Given the description of an element on the screen output the (x, y) to click on. 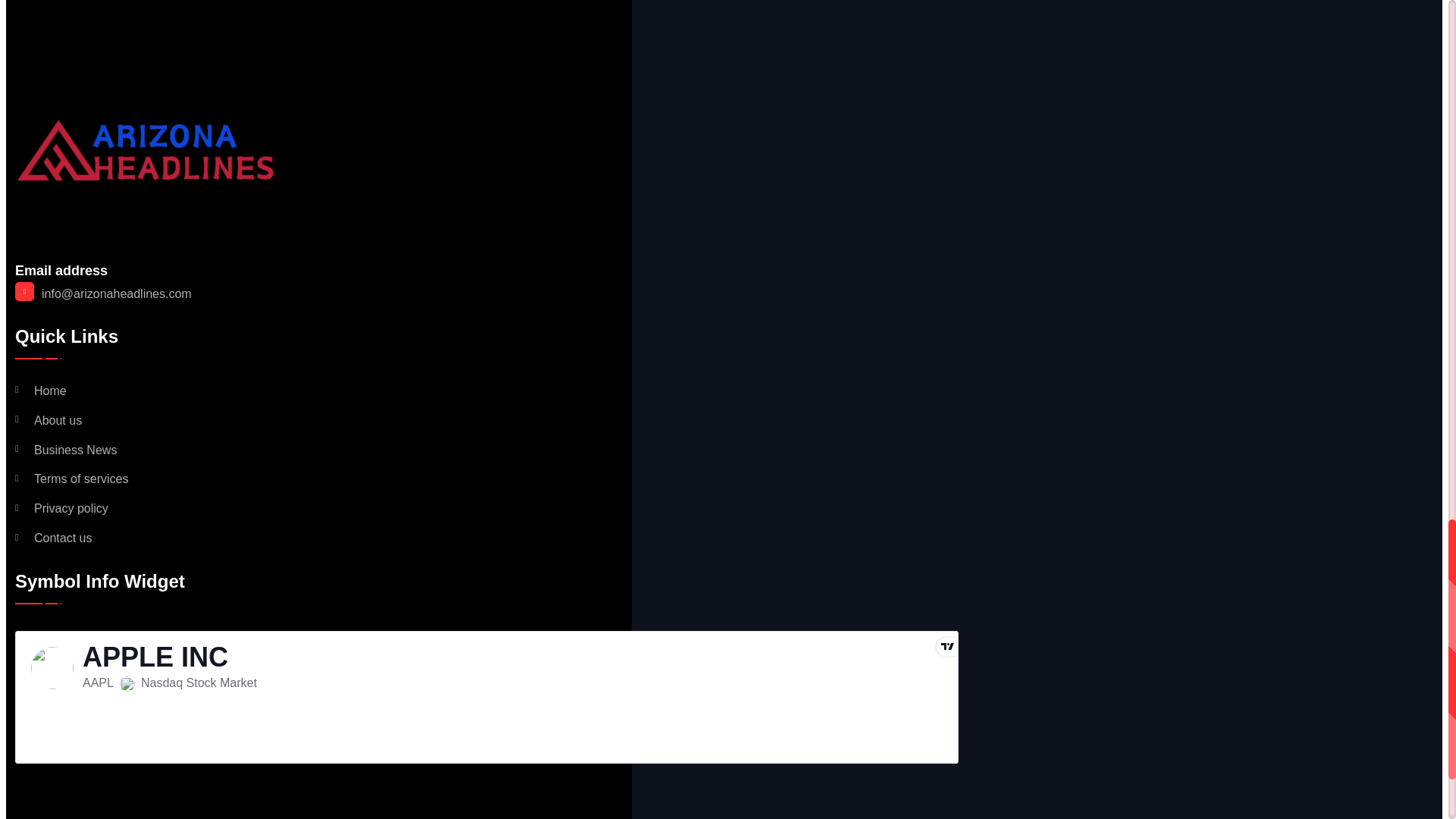
Terms of services (71, 479)
Privacy policy (60, 509)
symbol info TradingView widget (486, 696)
Home (40, 391)
About us (47, 421)
Business News (65, 450)
Contact us (52, 538)
